Given the description of an element on the screen output the (x, y) to click on. 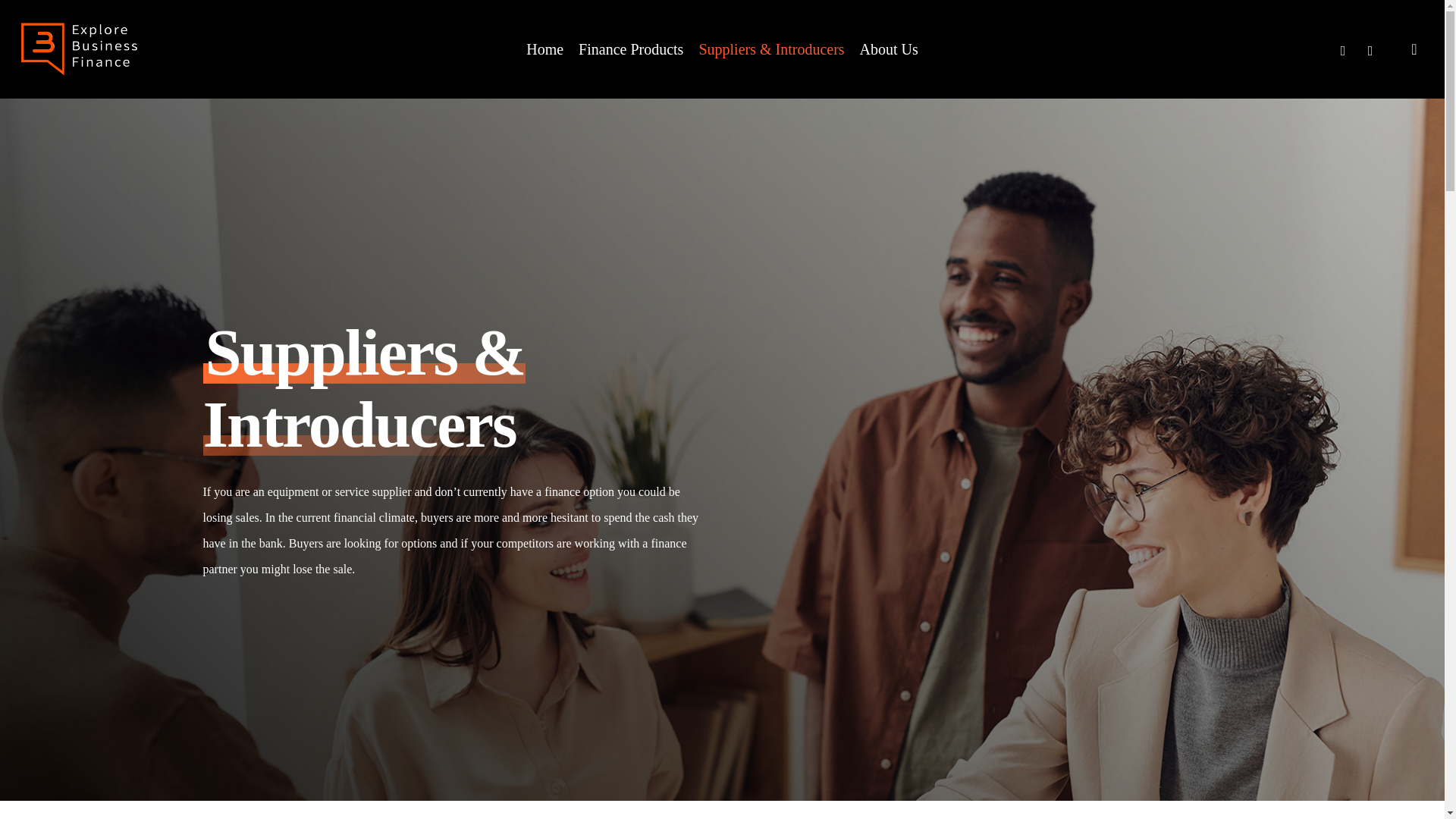
email (1370, 49)
Home (544, 48)
phone (1342, 49)
search (1414, 48)
Finance Products (630, 48)
About Us (888, 48)
